Given the description of an element on the screen output the (x, y) to click on. 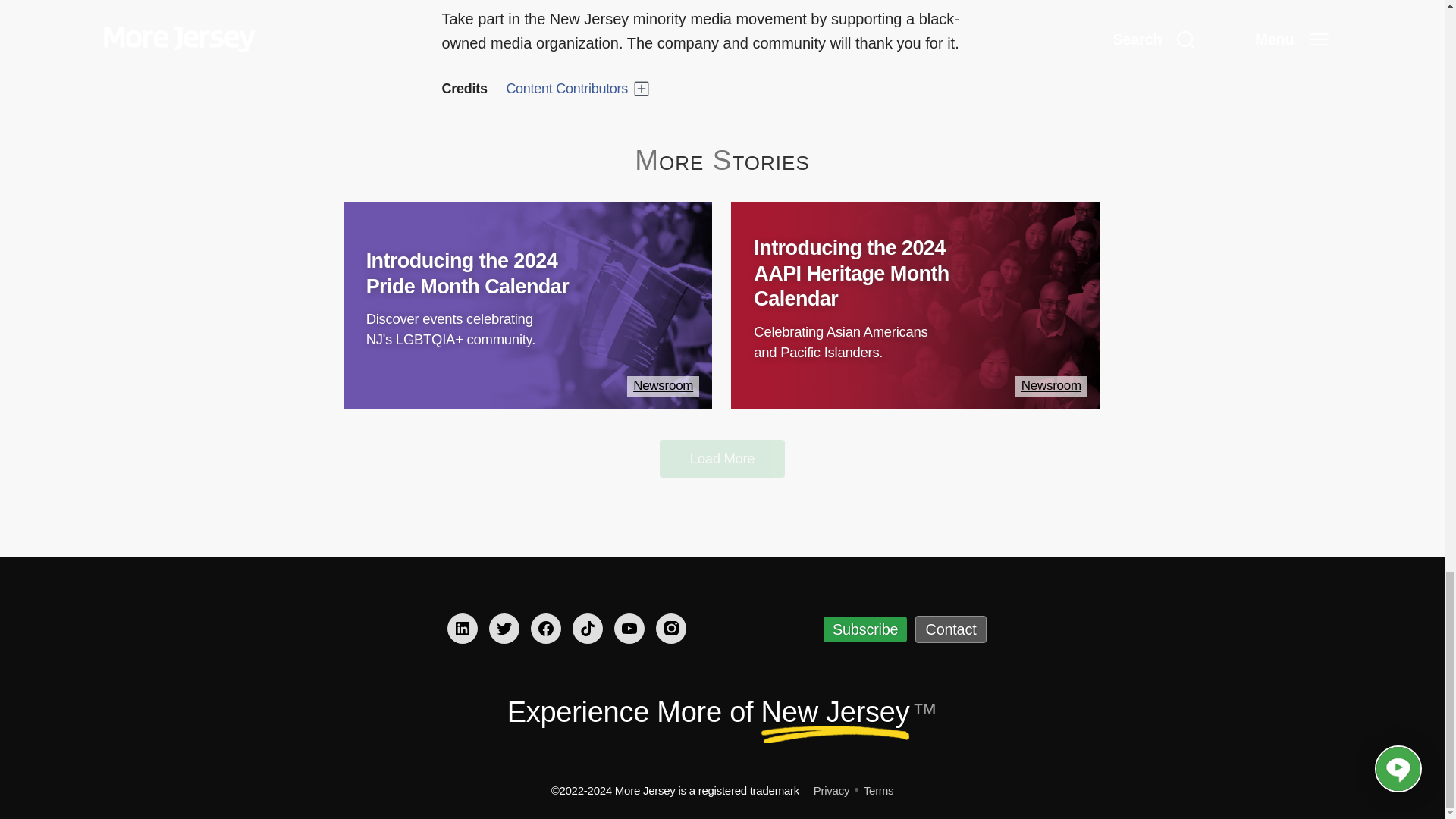
Display Contributors (577, 88)
